Given the description of an element on the screen output the (x, y) to click on. 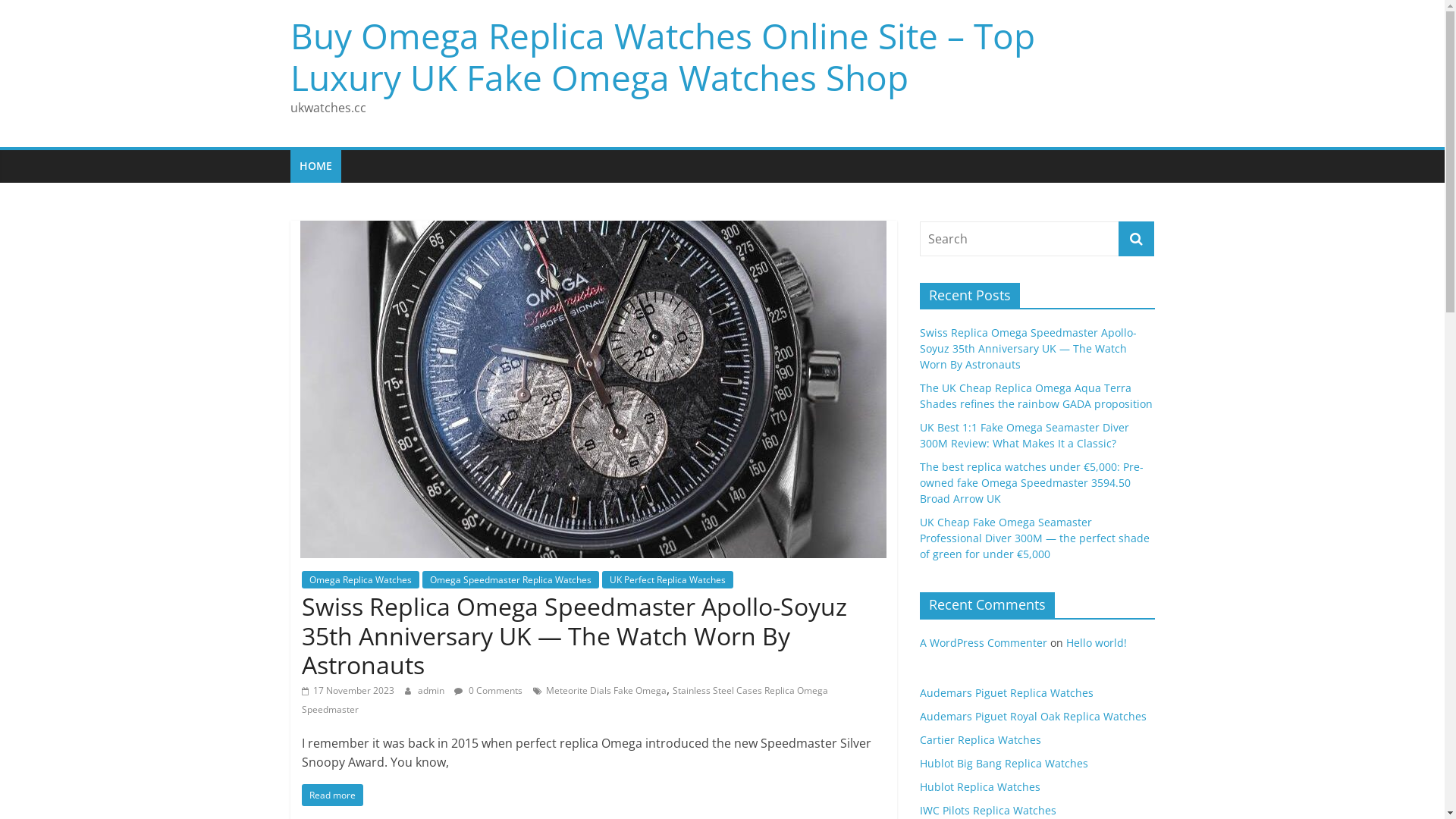
Omega Speedmaster Replica Watches Element type: text (509, 579)
Read more Element type: text (332, 795)
Audemars Piguet Replica Watches Element type: text (1005, 692)
Stainless Steel Cases Replica Omega Speedmaster Element type: text (564, 700)
Omega Replica Watches Element type: text (360, 579)
Cartier Replica Watches Element type: text (979, 739)
17 November 2023 Element type: text (347, 690)
IWC Pilots Replica Watches Element type: text (987, 810)
Meteorite Dials Fake Omega Element type: text (606, 690)
Hublot Big Bang Replica Watches Element type: text (1003, 763)
0 Comments Element type: text (487, 690)
UK Perfect Replica Watches Element type: text (667, 579)
admin Element type: text (431, 690)
A WordPress Commenter Element type: text (982, 642)
HOME Element type: text (314, 166)
Audemars Piguet Royal Oak Replica Watches Element type: text (1032, 716)
Hublot Replica Watches Element type: text (979, 786)
Hello world! Element type: text (1096, 642)
